Given the description of an element on the screen output the (x, y) to click on. 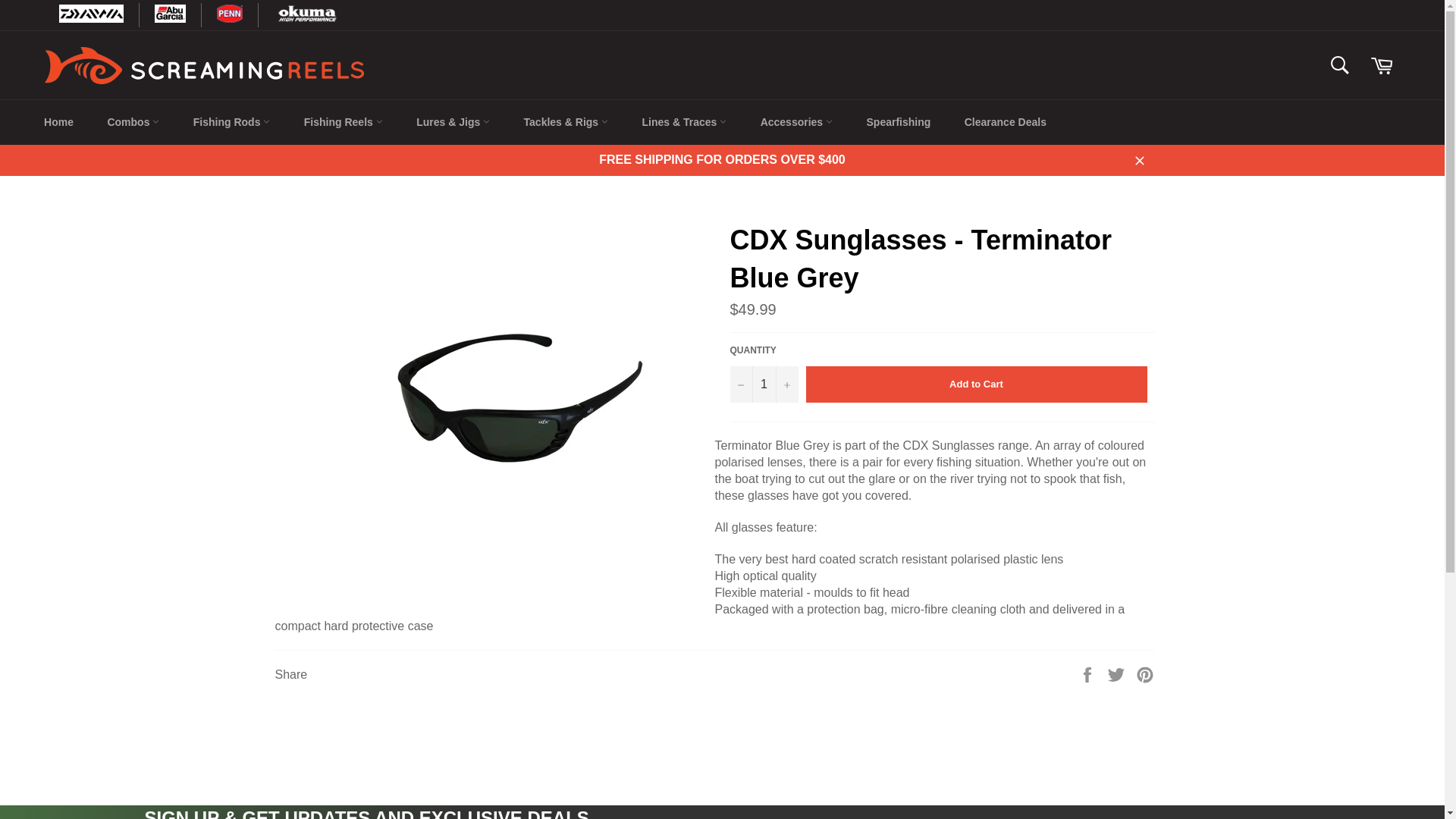
Share on Facebook (1088, 673)
Tweet on Twitter (1117, 673)
1 (763, 384)
Pin on Pinterest (1144, 673)
